Given the description of an element on the screen output the (x, y) to click on. 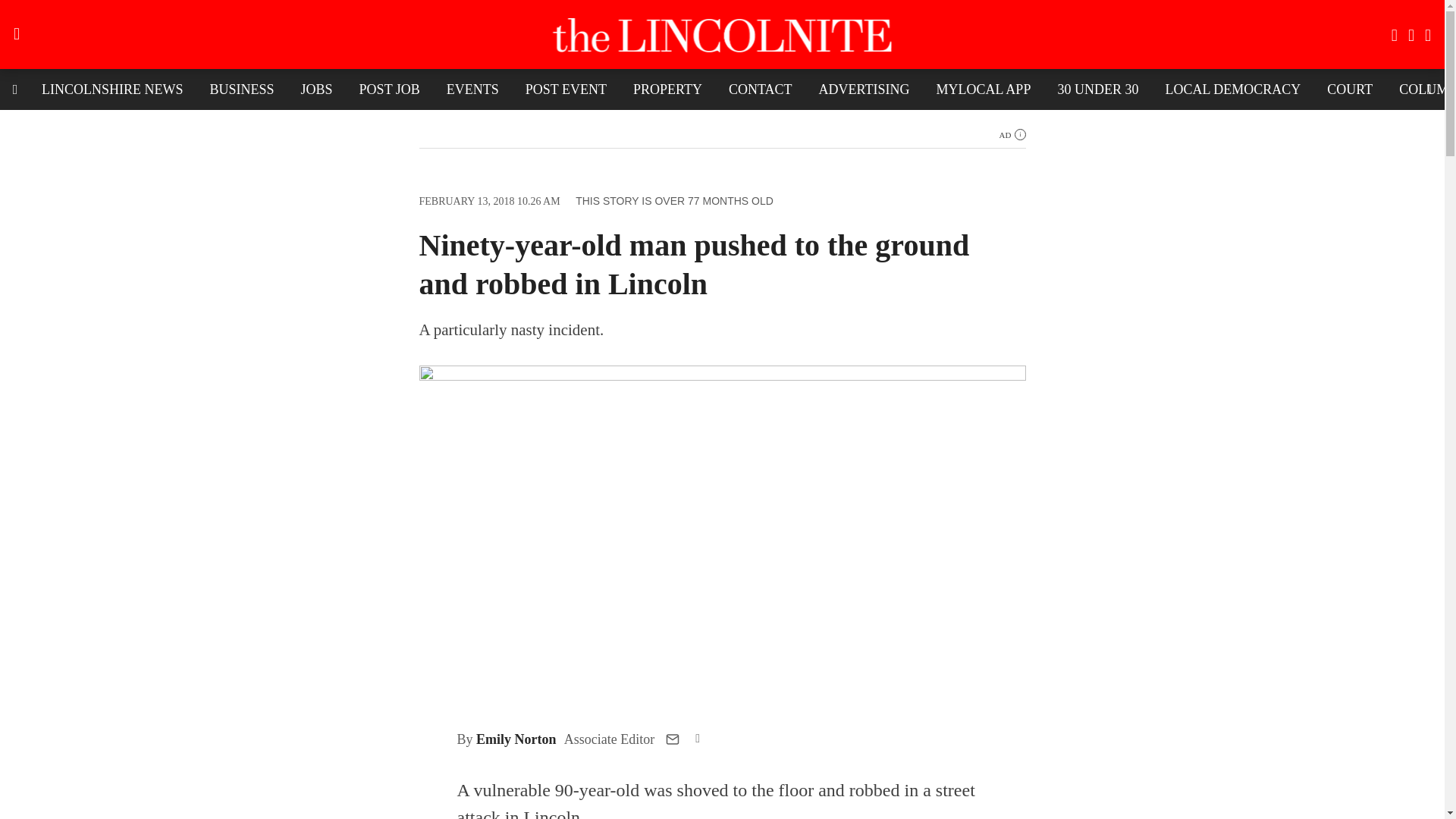
MYLOCAL APP (983, 88)
PROPERTY (667, 88)
POST EVENT (565, 88)
CONTACT (760, 88)
LINCOLNSHIRE NEWS (112, 88)
ADVERTISING (864, 88)
BUSINESS (241, 88)
EVENTS (473, 88)
COURT (1350, 88)
30 UNDER 30 (1097, 88)
LOCAL DEMOCRACY (1232, 88)
Contact author (672, 739)
POST JOB (388, 88)
JOBS (316, 88)
